Given the description of an element on the screen output the (x, y) to click on. 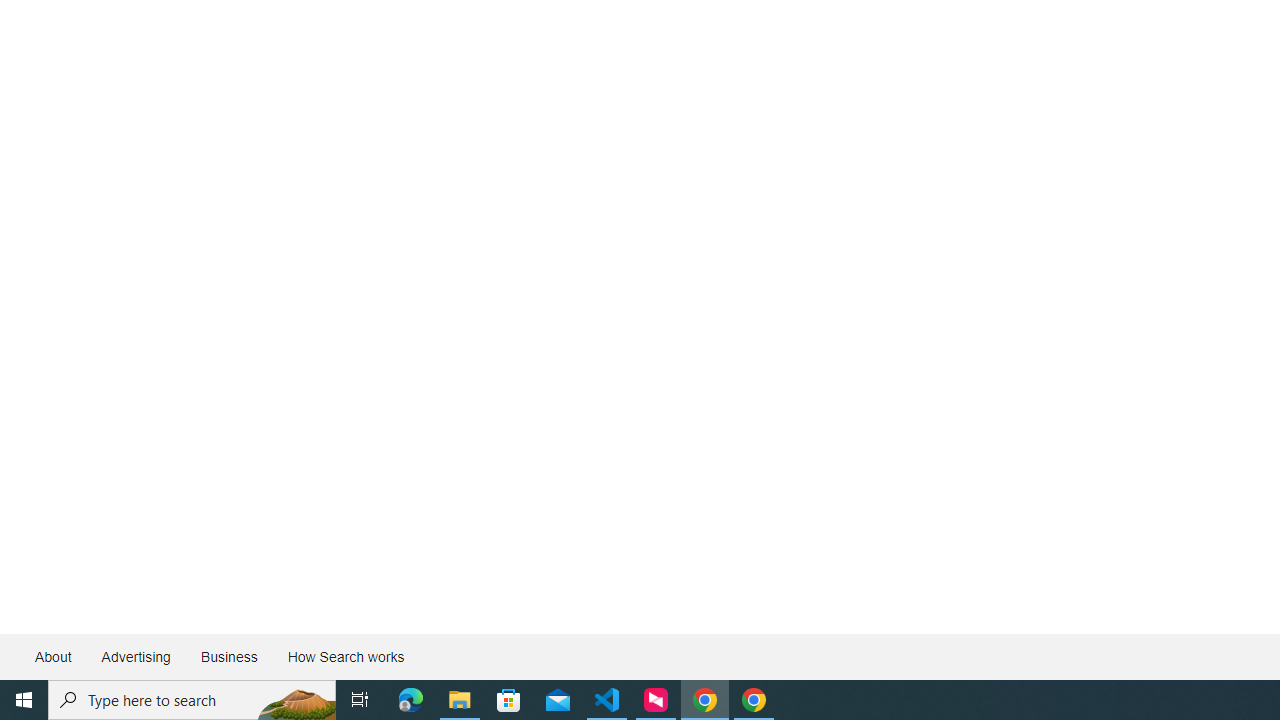
How Search works (345, 656)
About (53, 656)
Advertising (135, 656)
Business (228, 656)
